Given the description of an element on the screen output the (x, y) to click on. 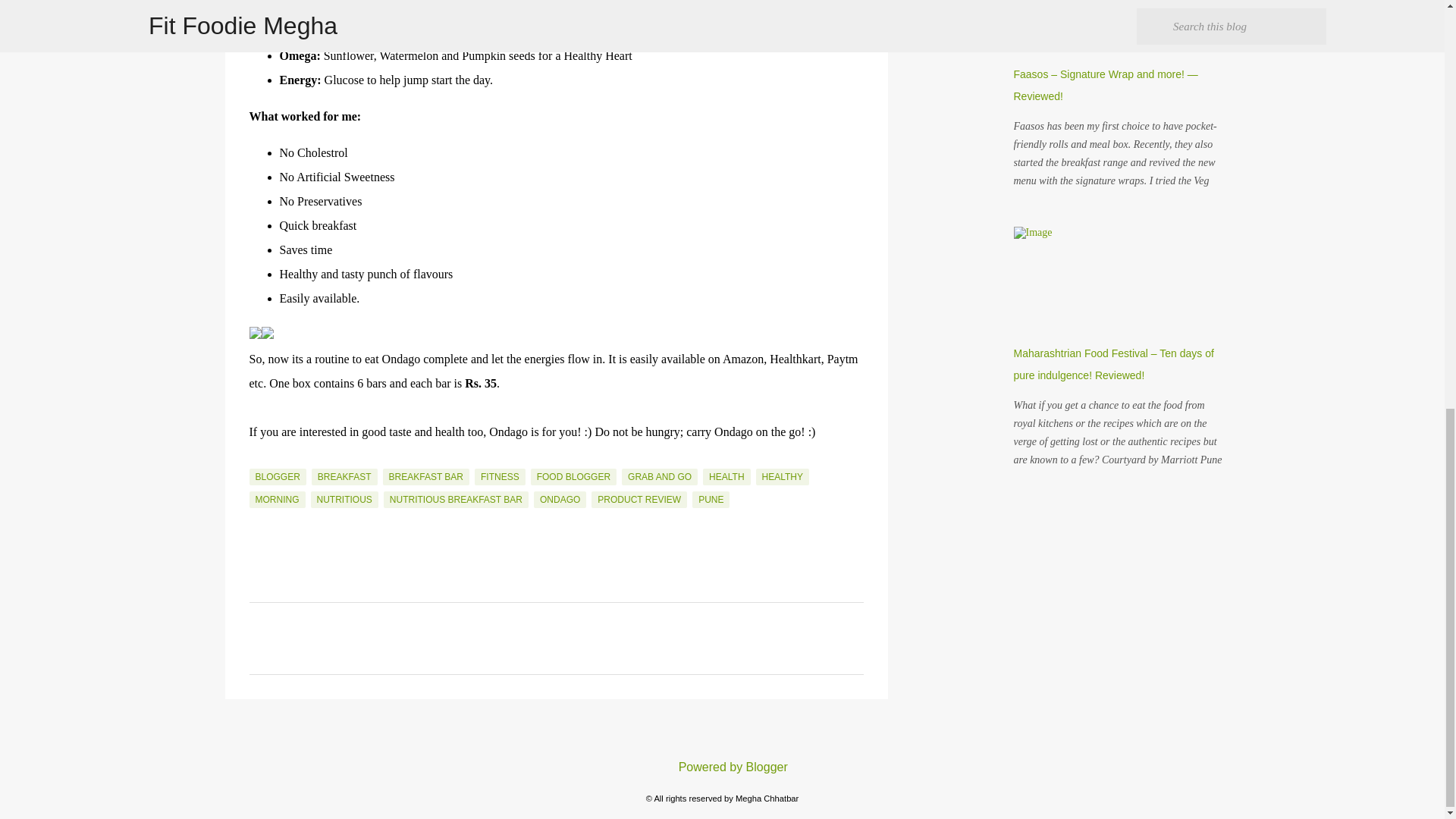
BLOGGER (276, 476)
FOOD BLOGGER (573, 476)
HEALTH (726, 476)
ONDAGO (560, 499)
NUTRITIOUS (344, 499)
GRAB AND GO (659, 476)
PRODUCT REVIEW (639, 499)
NUTRITIOUS BREAKFAST BAR (456, 499)
PUNE (711, 499)
BREAKFAST BAR (425, 476)
HEALTHY (782, 476)
BREAKFAST (344, 476)
FITNESS (499, 476)
MORNING (276, 499)
Email Post (257, 459)
